Given the description of an element on the screen output the (x, y) to click on. 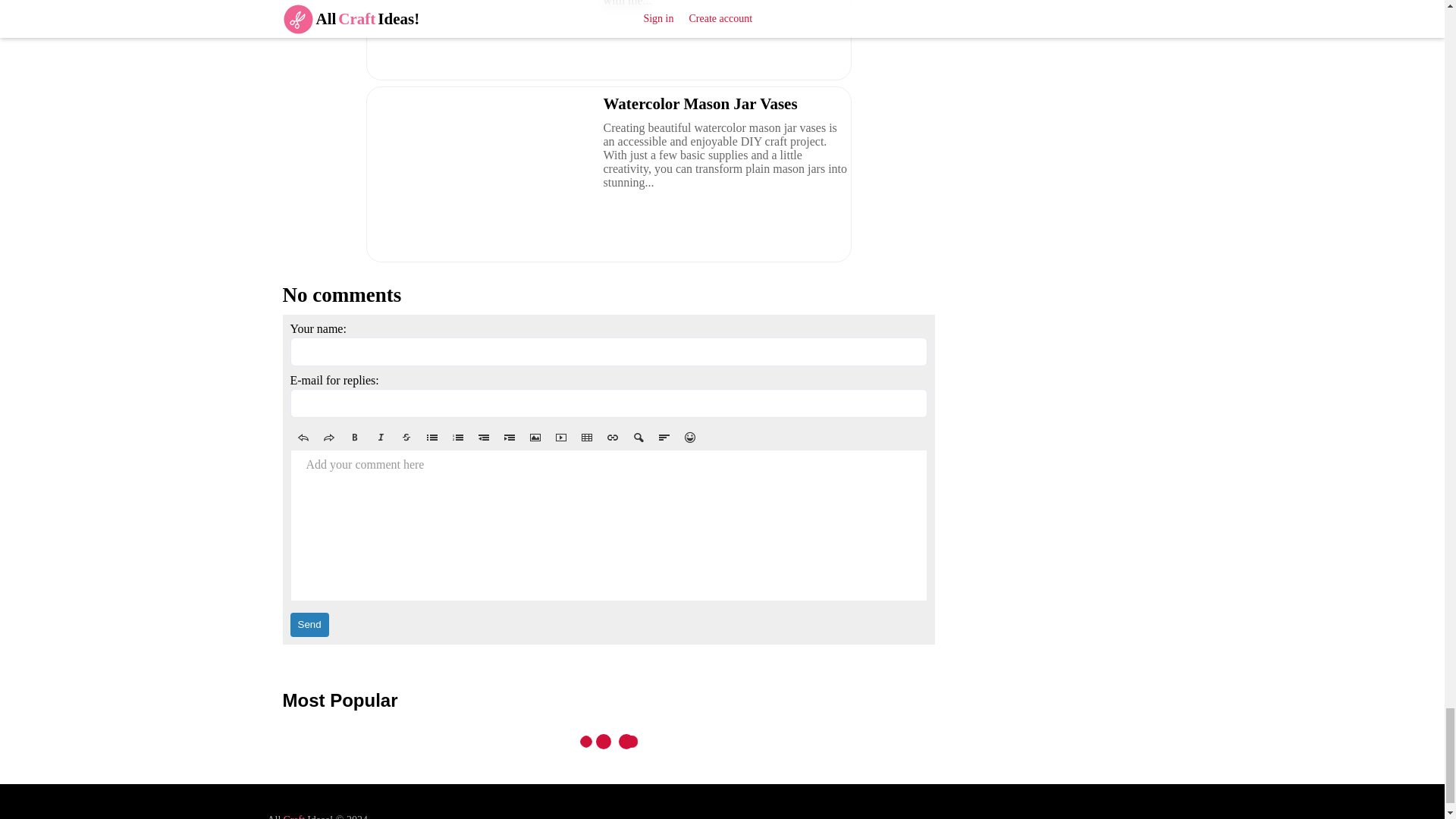
Link (611, 437)
Deleted (406, 437)
Italic (379, 437)
Table (585, 437)
Redo (327, 437)
Undo (302, 437)
Insert Video (560, 437)
Send (309, 624)
Bold (353, 437)
1. Ordered List (457, 437)
Insert Image (534, 437)
